Given the description of an element on the screen output the (x, y) to click on. 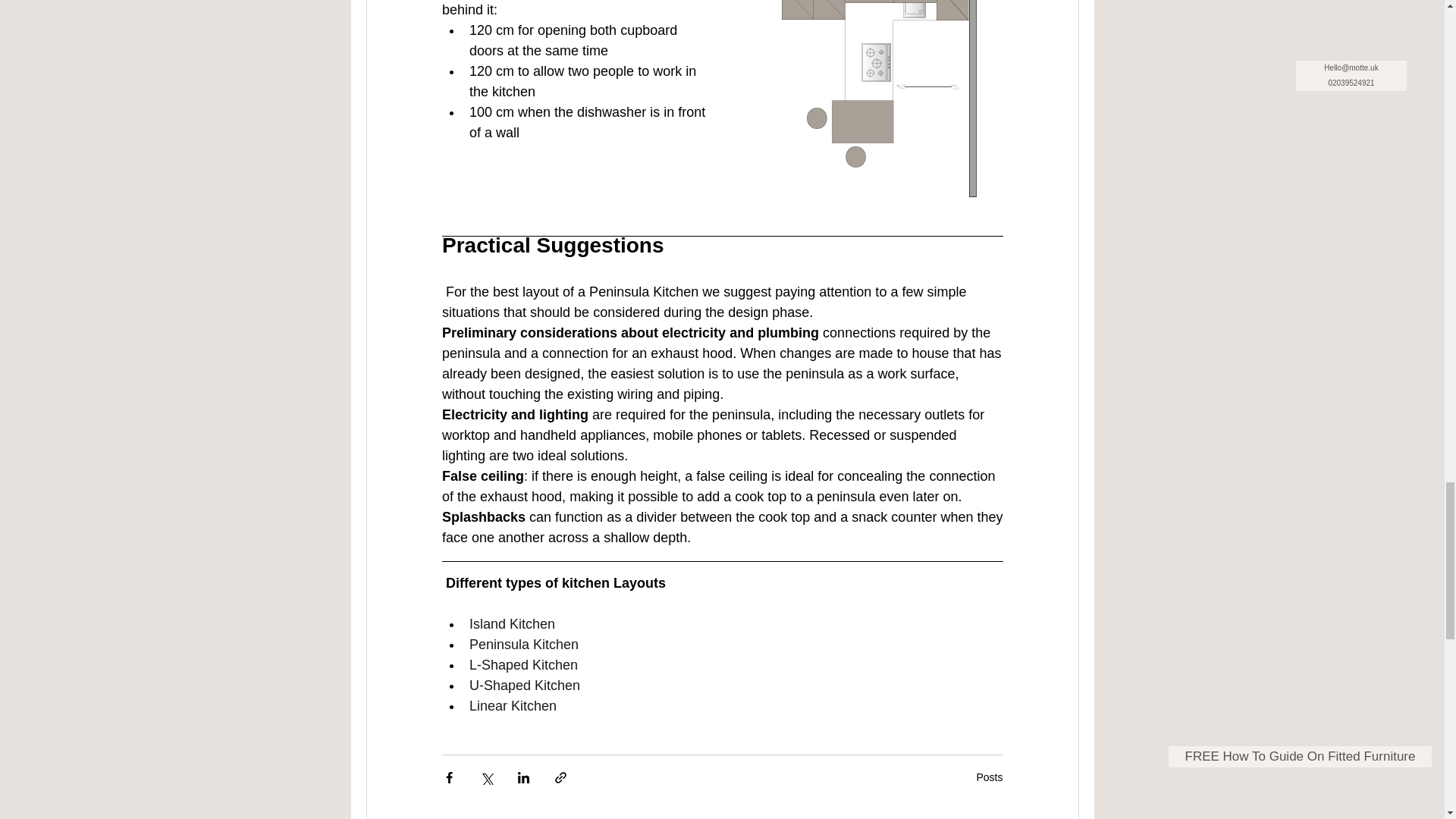
U-Shaped Kitchen (523, 685)
L-Shaped Kitchen (522, 664)
Posts (989, 776)
Linear Kitchen (512, 705)
Island Kitchen (511, 623)
Peninsula Kitchen (523, 644)
